Given the description of an element on the screen output the (x, y) to click on. 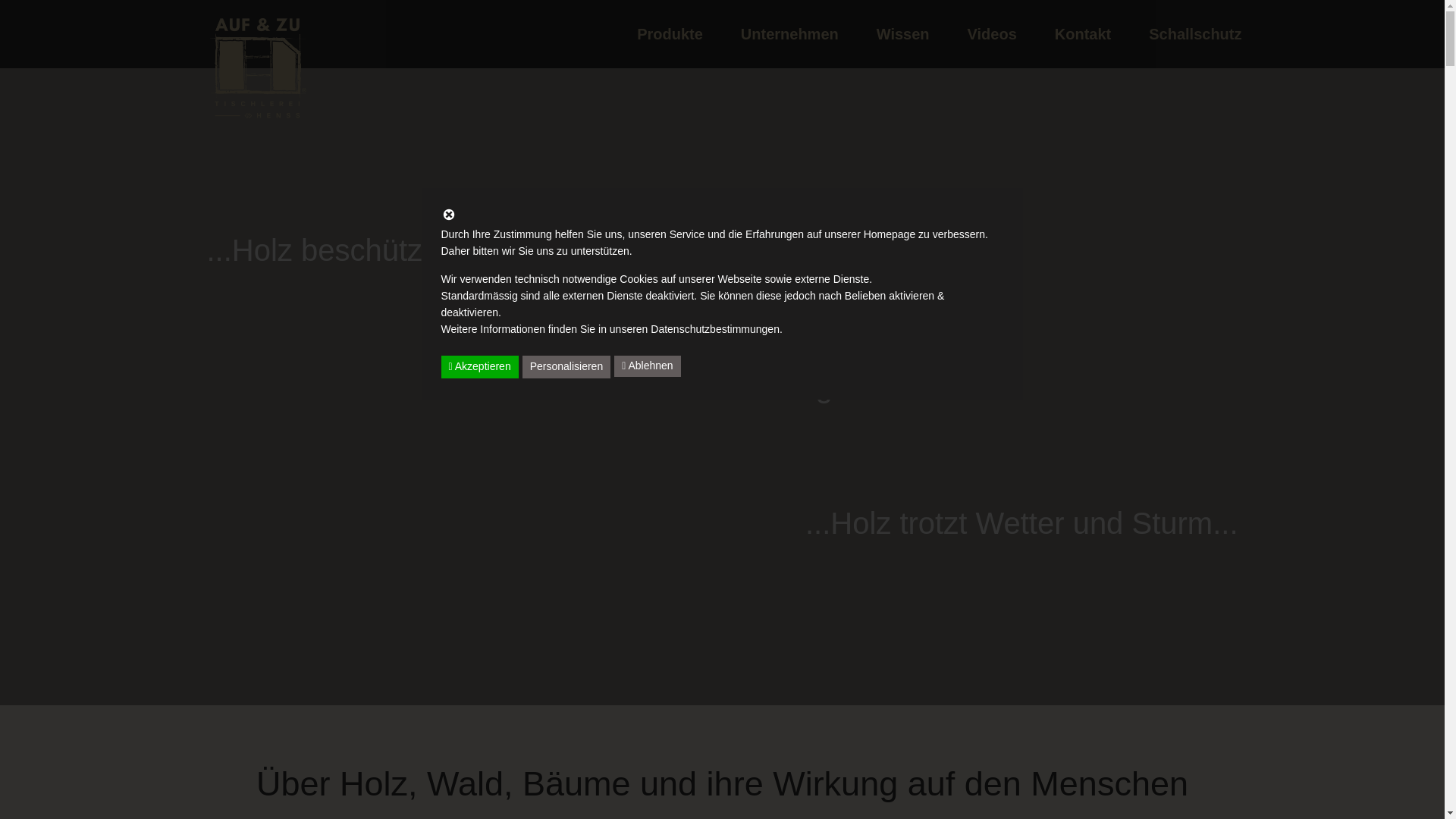
Wissen Element type: text (902, 33)
Schallschutz Element type: text (1194, 33)
Personalisieren Element type: text (566, 366)
Produkte Element type: text (669, 33)
Kontakt Element type: text (1082, 33)
Unternehmen Element type: text (789, 33)
Videos Element type: text (991, 33)
